Given the description of an element on the screen output the (x, y) to click on. 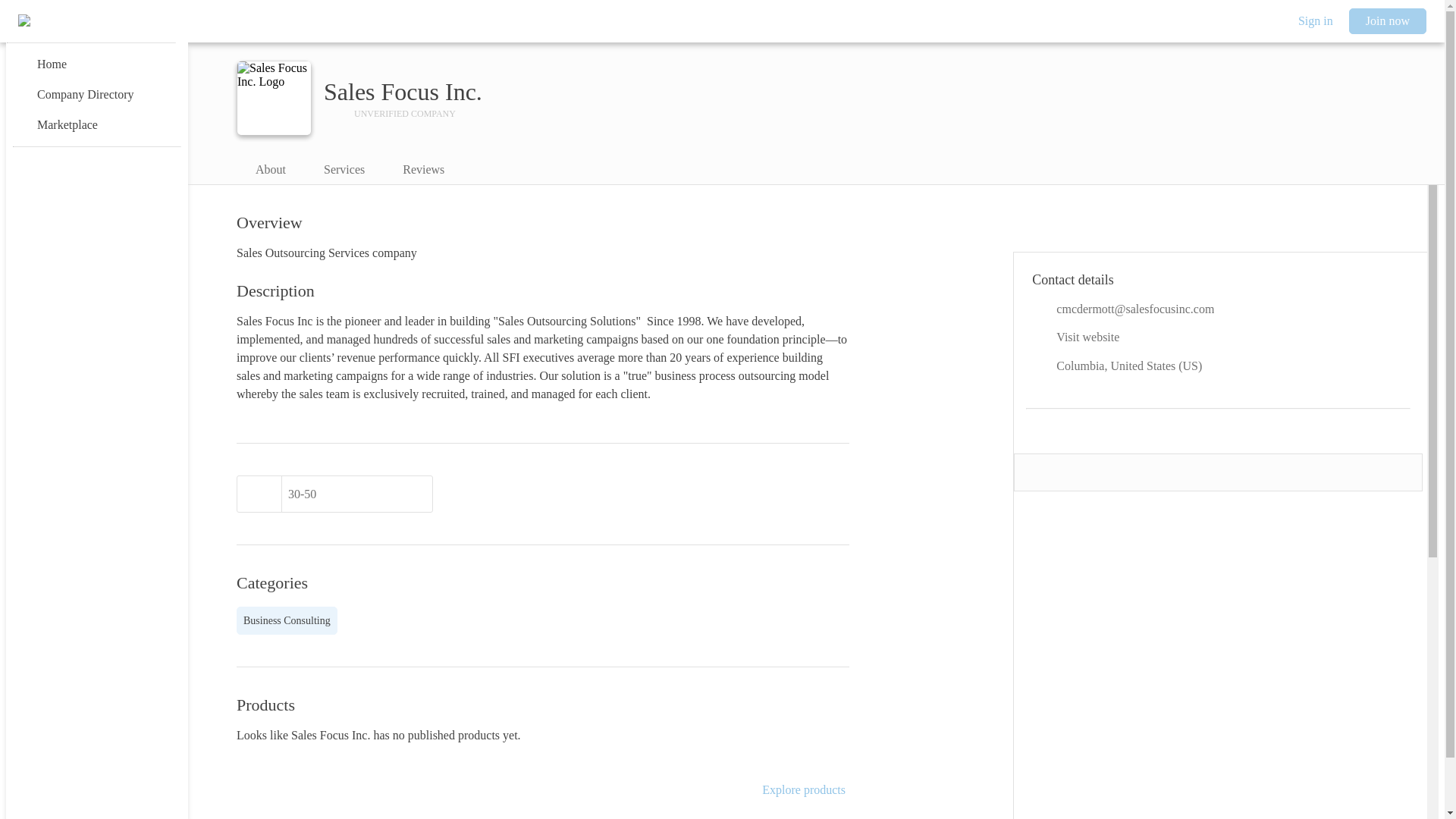
Explore products (803, 790)
Home (96, 64)
Sign in (1315, 21)
Company Directory (96, 94)
Business Consulting (286, 620)
Marketplace (96, 124)
Join now (1387, 21)
Visit website (1218, 337)
Business Consulting (286, 620)
